Given the description of an element on the screen output the (x, y) to click on. 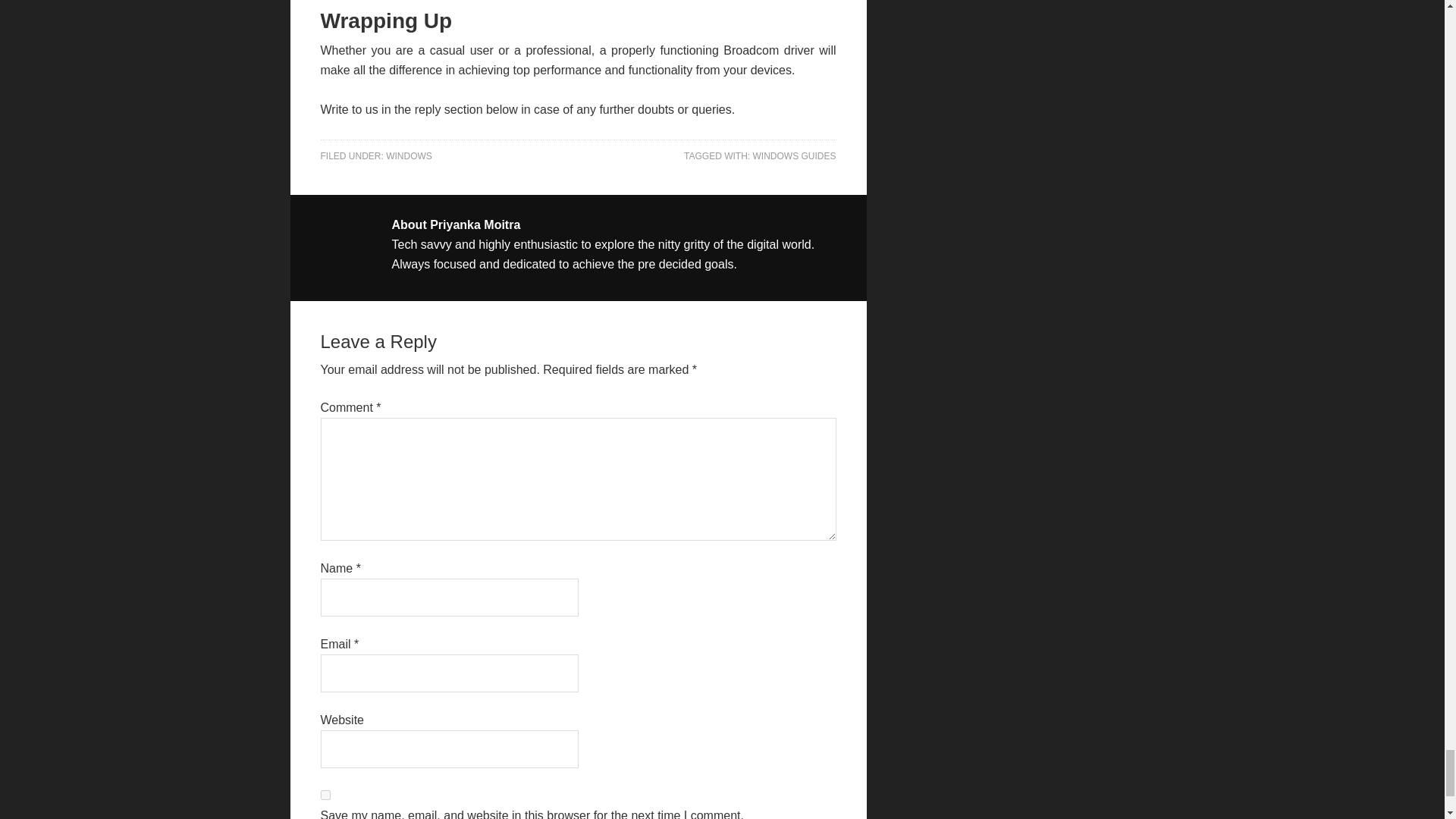
WINDOWS (408, 155)
yes (325, 795)
WINDOWS GUIDES (793, 155)
